Given the description of an element on the screen output the (x, y) to click on. 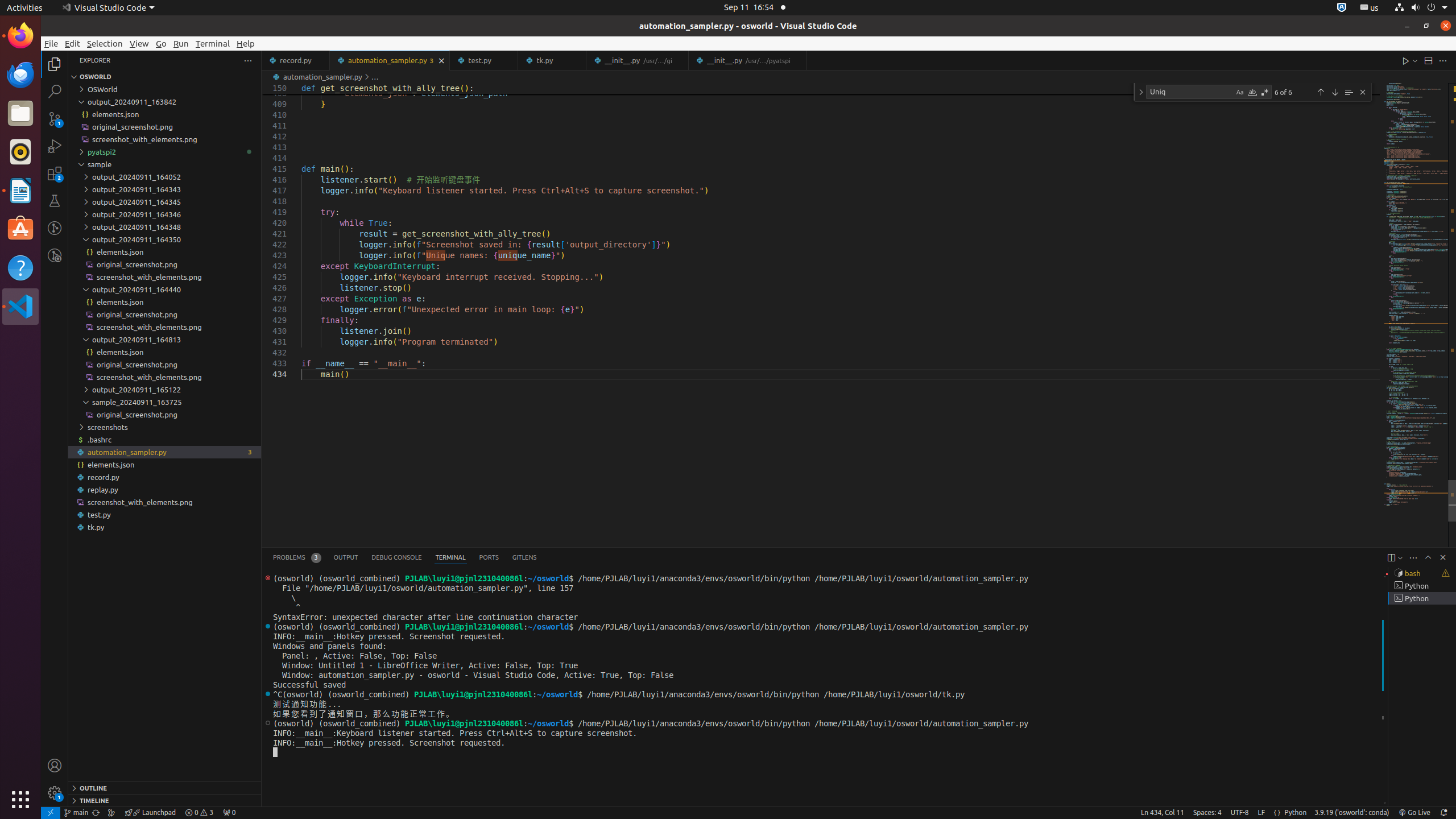
Source Control (Ctrl+Shift+G G) - 1 pending changes Element type: page-tab (54, 118)
screenshot_with_elements.png Element type: tree-item (164, 501)
tk.py Element type: page-tab (552, 60)
:1.21/StatusNotifierItem Element type: menu (1369, 7)
Go Element type: push-button (161, 43)
